Given the description of an element on the screen output the (x, y) to click on. 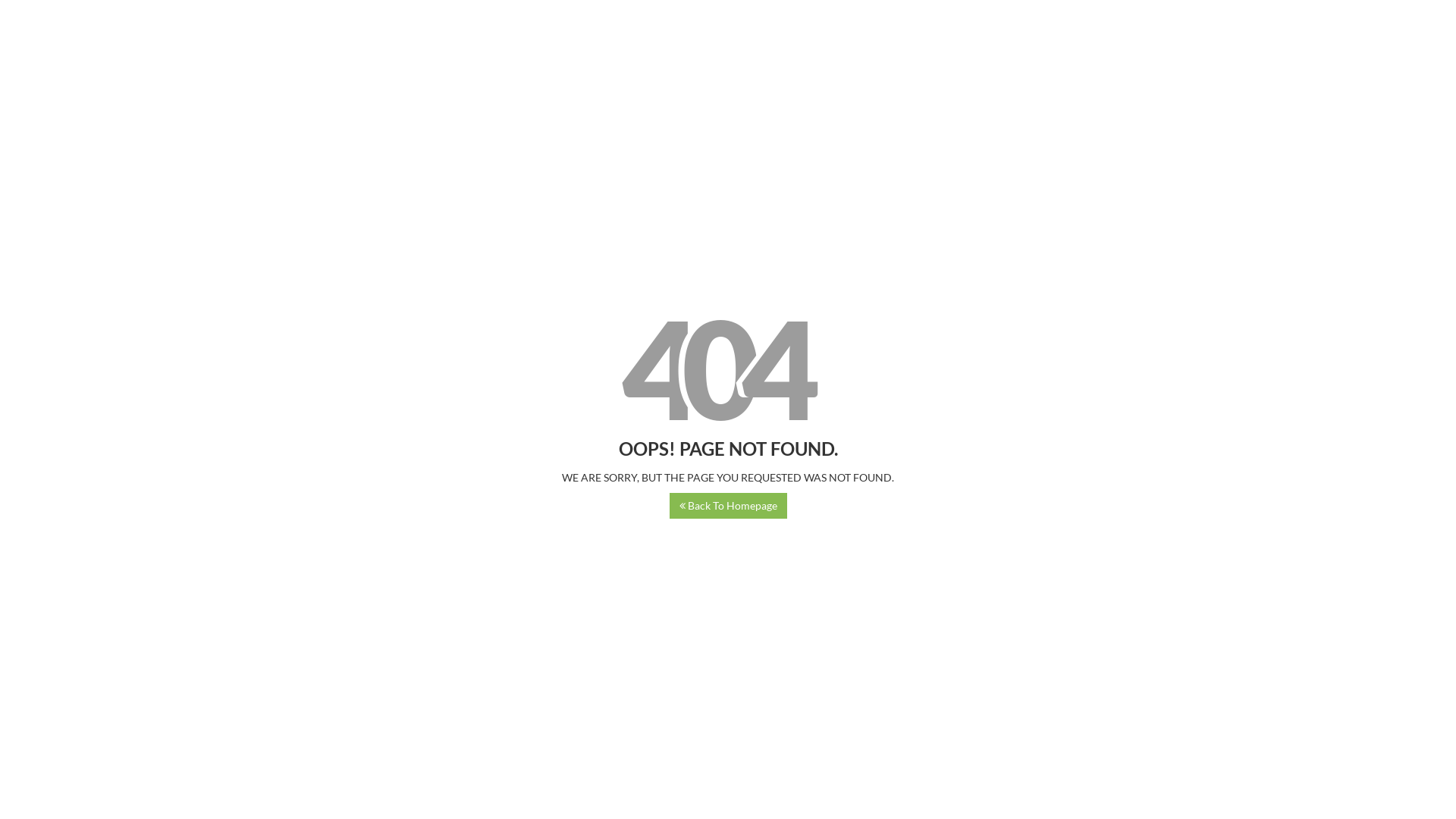
Back To Homepage Element type: text (727, 505)
